Given the description of an element on the screen output the (x, y) to click on. 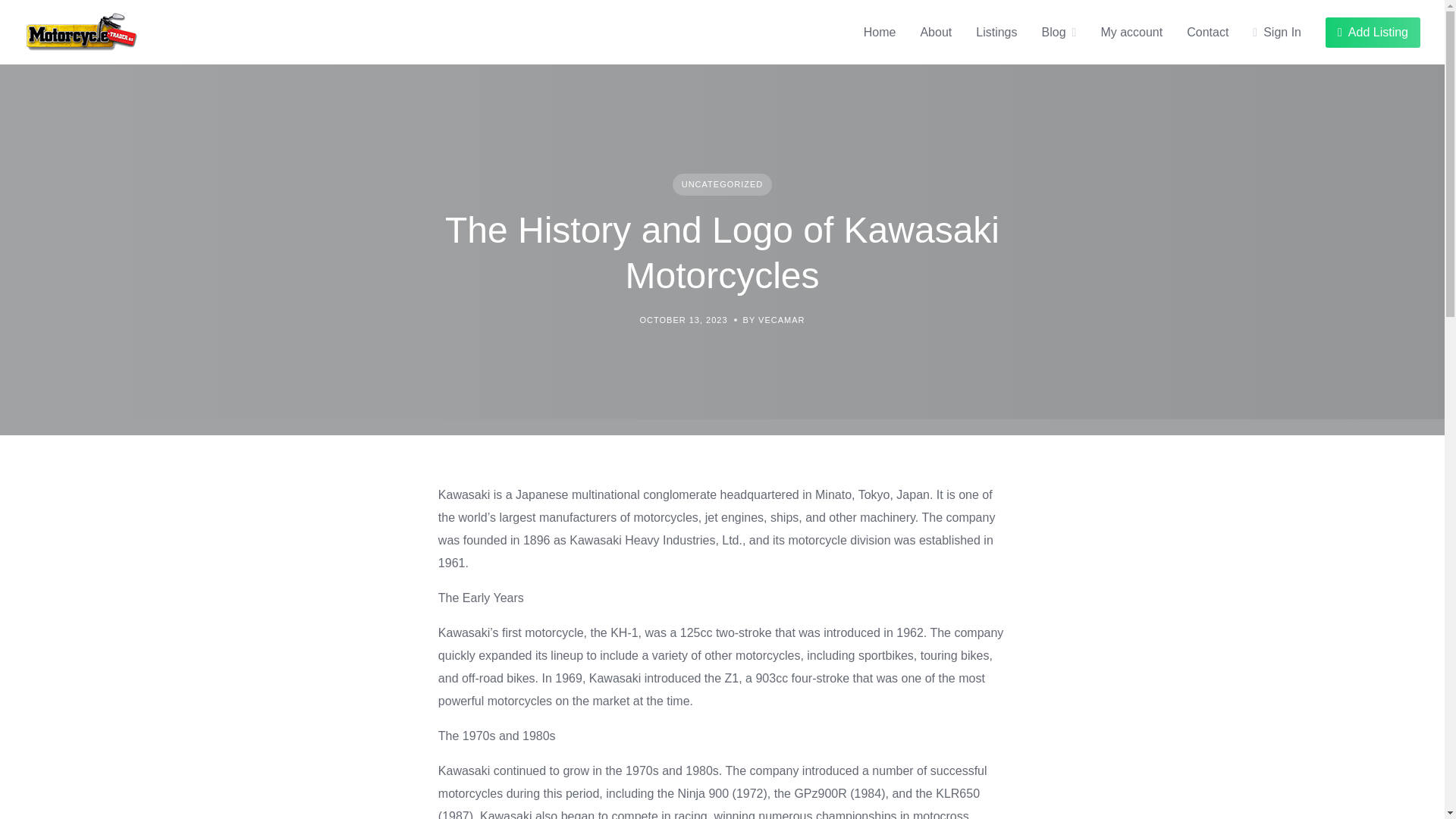
Blog (1053, 31)
About (936, 31)
Search (31, 15)
Add Listing (1372, 31)
Sign In (1276, 31)
Home (879, 31)
Listings (995, 31)
My account (1130, 31)
UNCATEGORIZED (722, 184)
Contact (1207, 31)
